Given the description of an element on the screen output the (x, y) to click on. 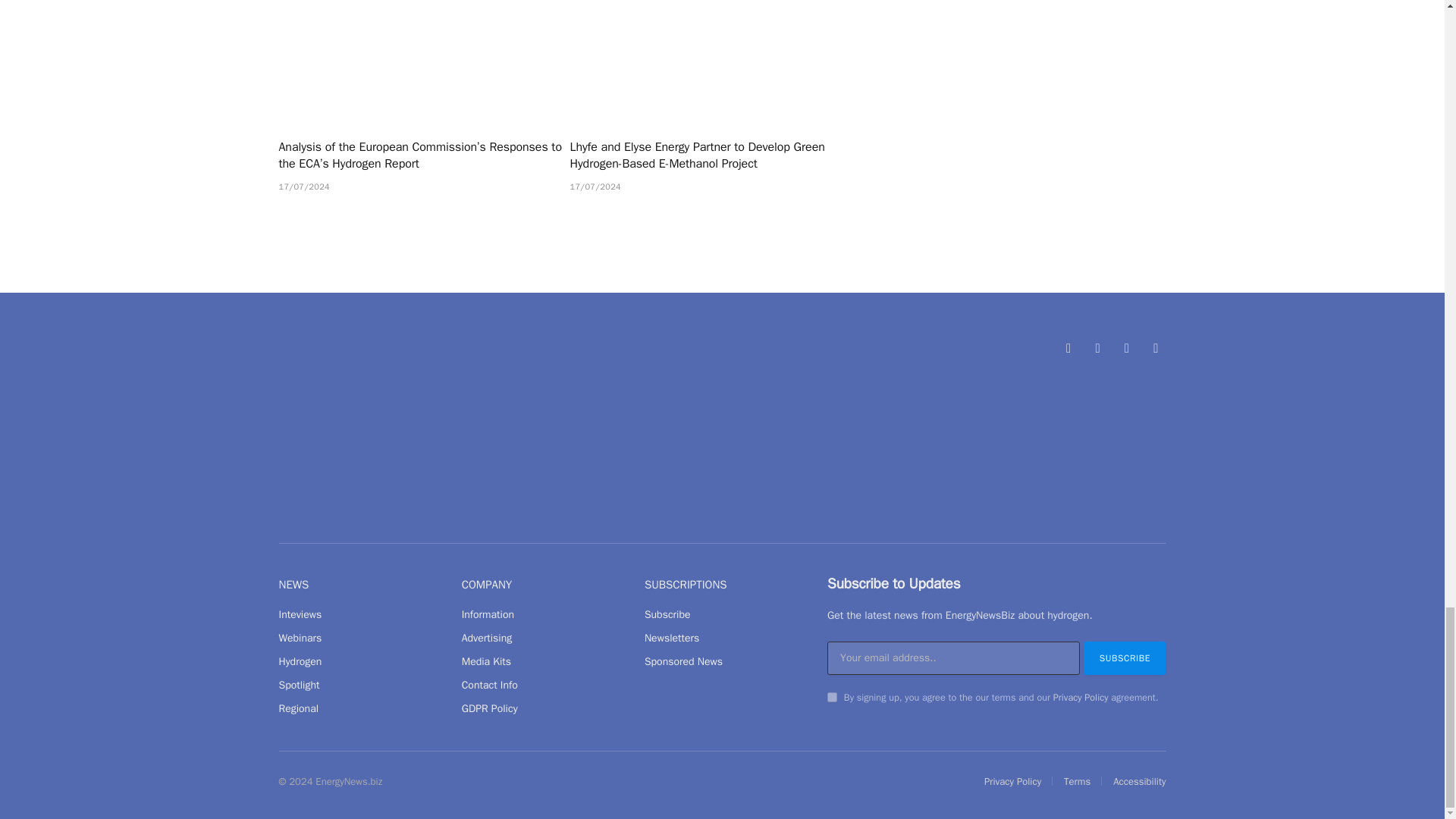
Subscribe (1124, 657)
on (832, 696)
